Given the description of an element on the screen output the (x, y) to click on. 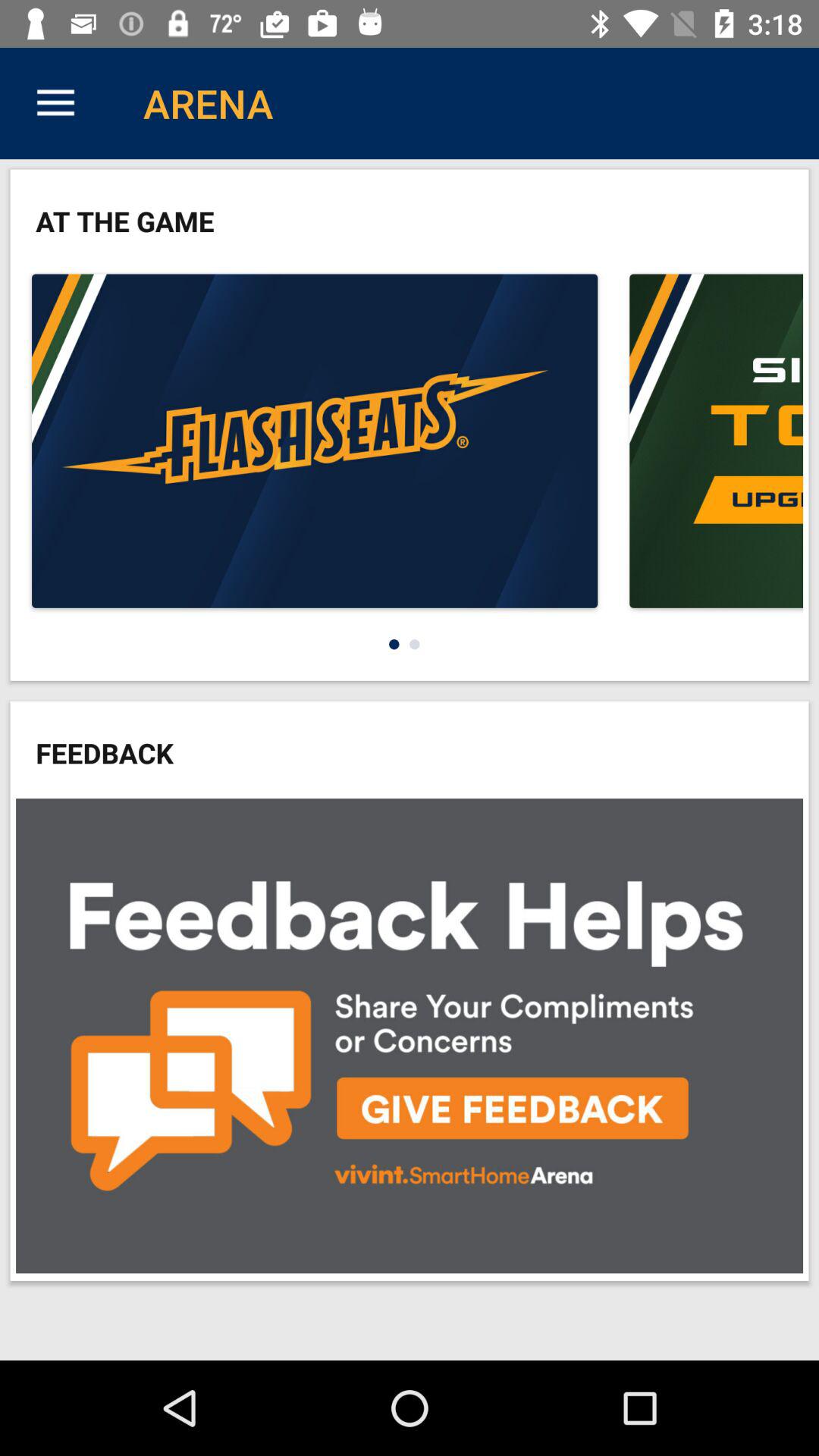
open the icon above at the game (55, 103)
